Given the description of an element on the screen output the (x, y) to click on. 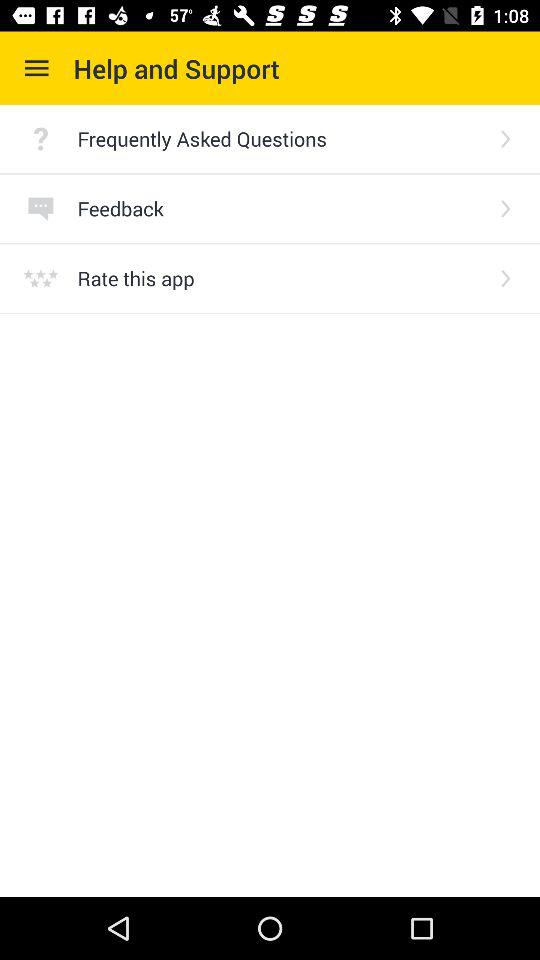
scroll to the frequently asked questions item (280, 138)
